Given the description of an element on the screen output the (x, y) to click on. 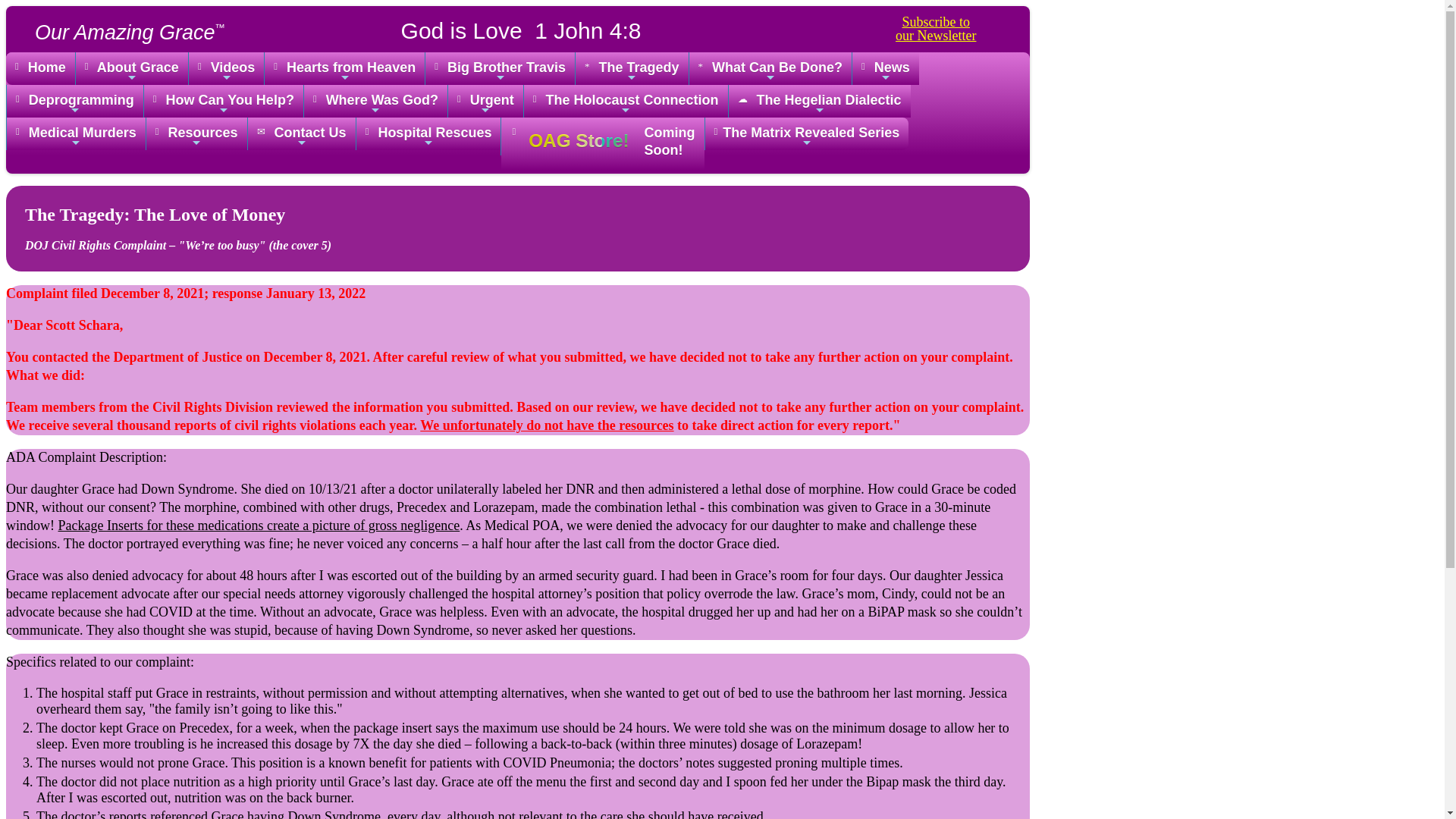
on (935, 27)
  Videos (344, 68)
  About Grace (226, 68)
God is Love  1 John 4:8 (131, 68)
  Home (516, 28)
  The Tragedy (40, 68)
  Big Brother Travis (631, 68)
OAG Store Coming Soon (500, 68)
